Given the description of an element on the screen output the (x, y) to click on. 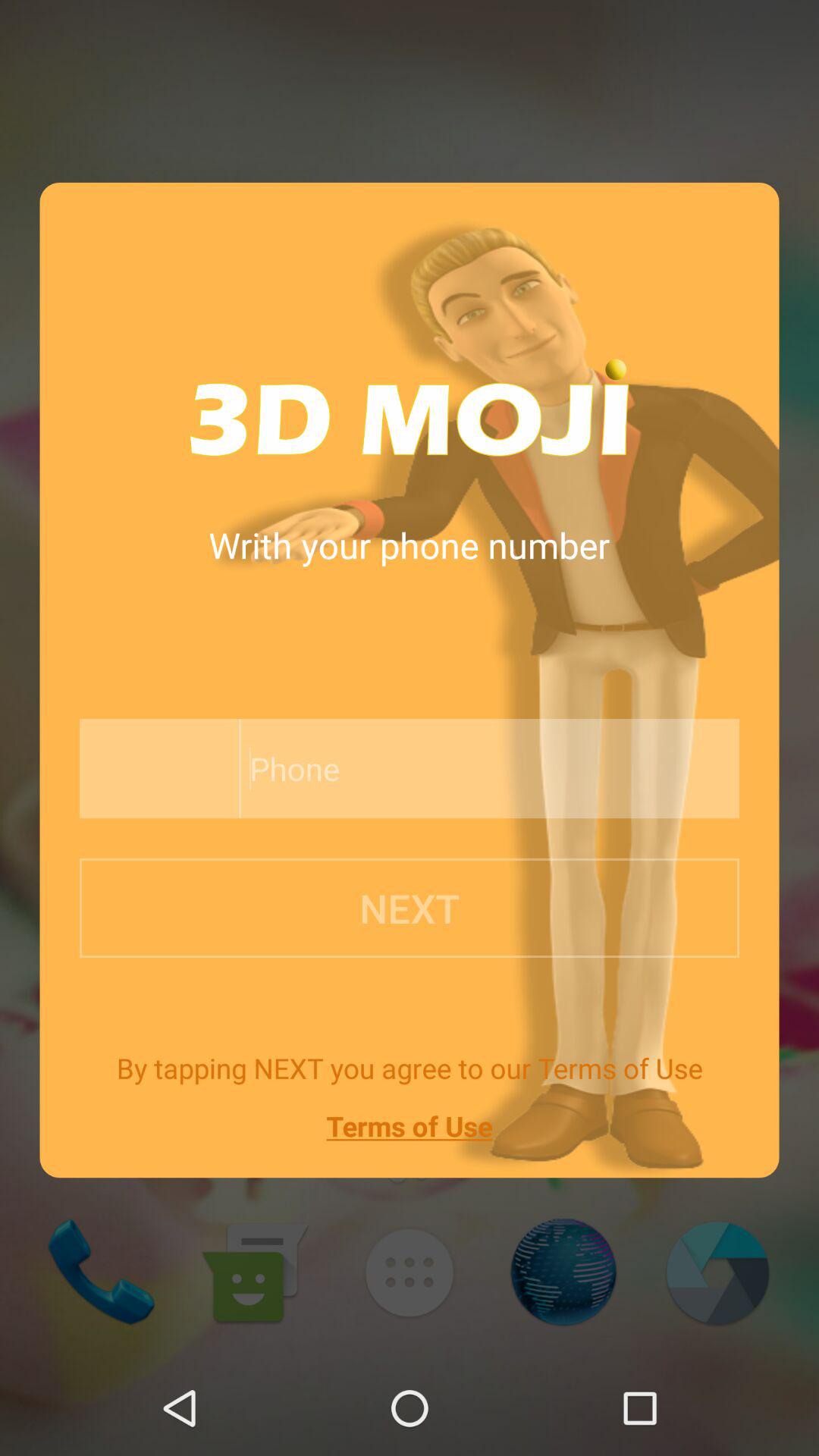
insert phone field (454, 768)
